Given the description of an element on the screen output the (x, y) to click on. 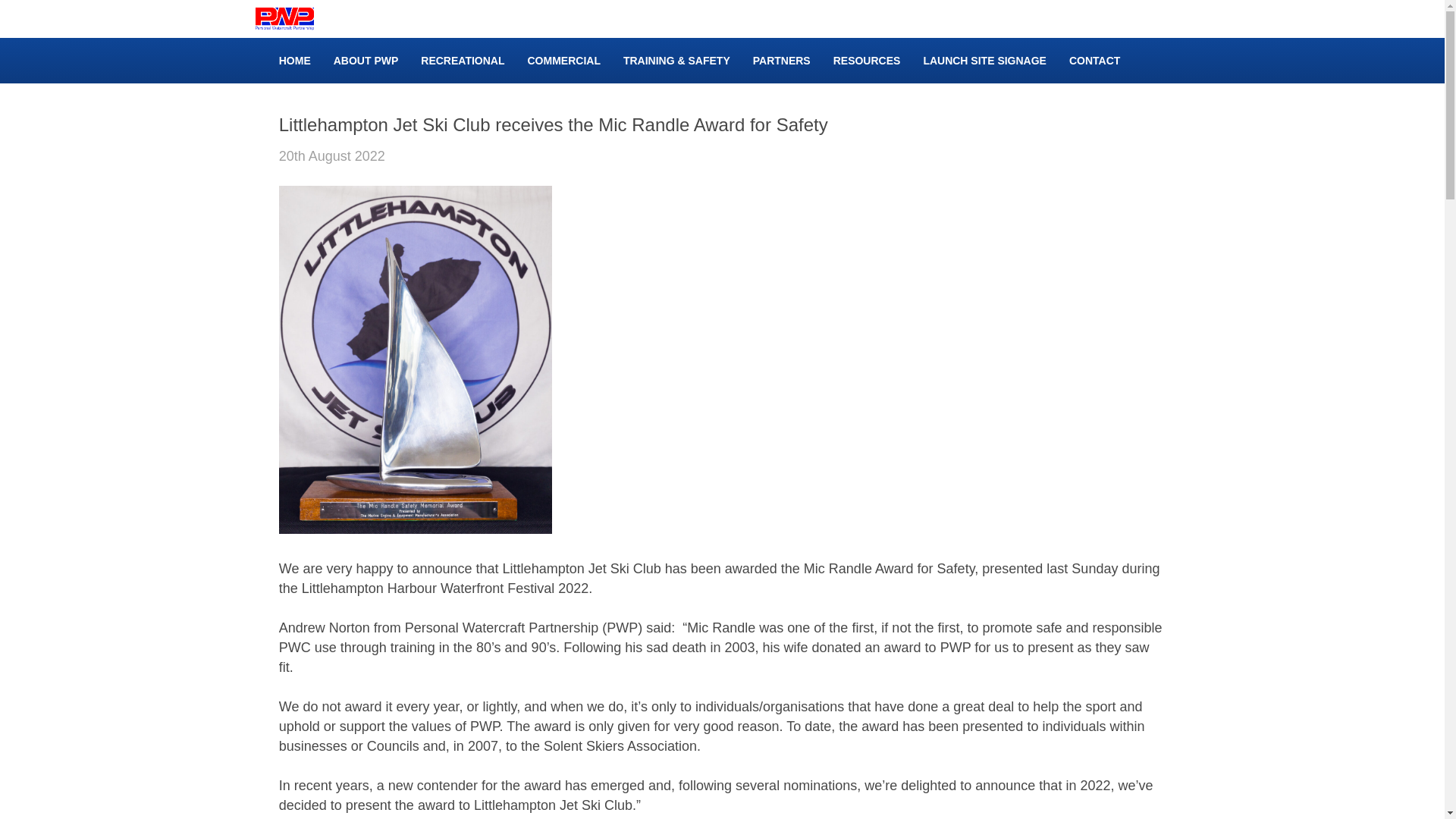
RECREATIONAL (461, 60)
RESOURCES (866, 60)
CONTACT (1093, 60)
PARTNERS (781, 60)
LAUNCH SITE SIGNAGE (984, 60)
COMMERCIAL (563, 60)
ABOUT PWP (365, 60)
